Given the description of an element on the screen output the (x, y) to click on. 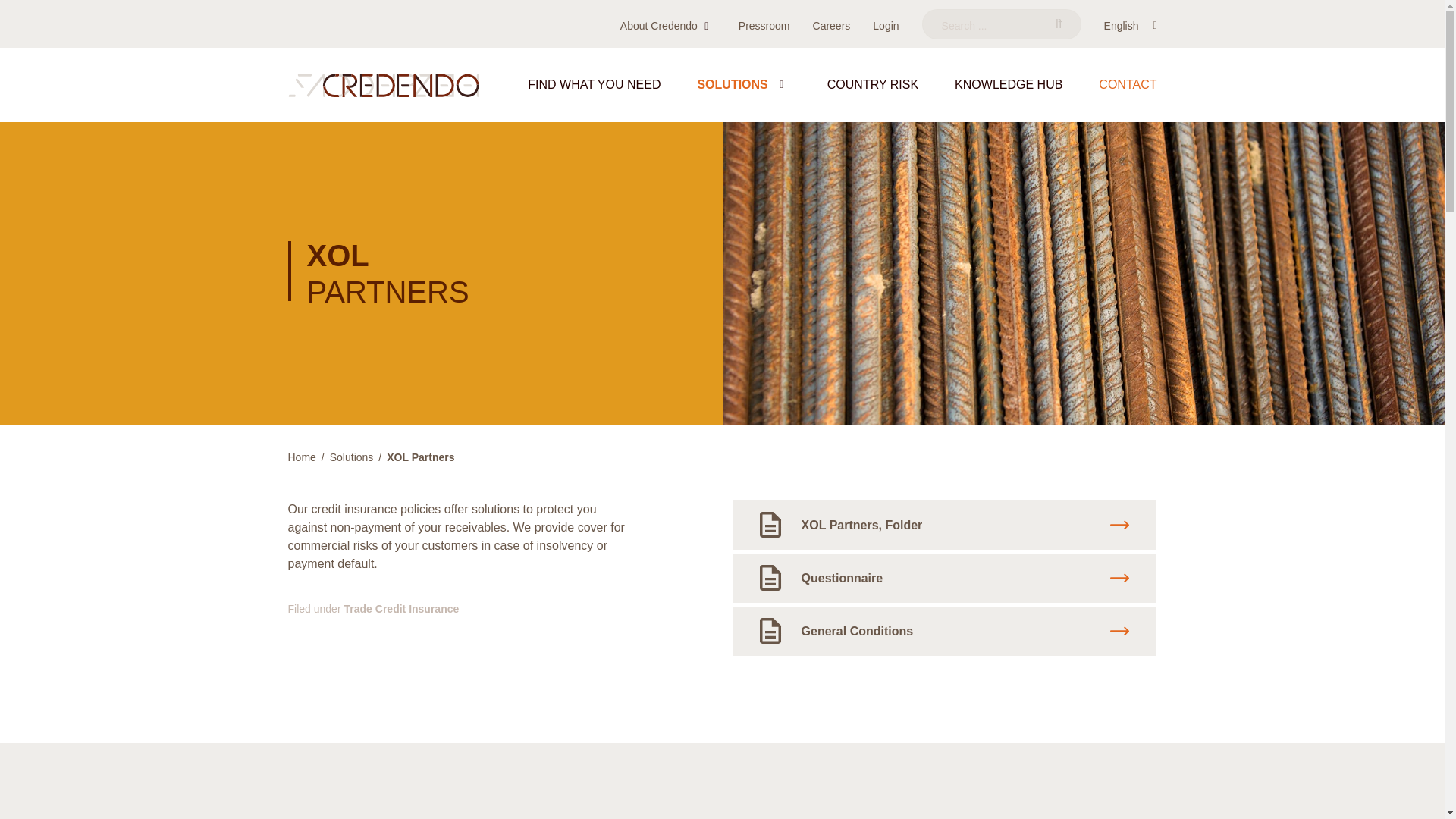
KNOWLEDGE HUB (1008, 94)
Careers (831, 25)
credendo-excesssurety-quest-en1-v11.pdf (944, 577)
FIND WHAT YOU NEED (594, 94)
Credendo-ExcessSurety-Folder-PARTNERS-FR-2023-v1.pdf (944, 524)
Login (885, 25)
Home (384, 85)
Pressroom (764, 25)
COUNTRY RISK (872, 94)
